Given the description of an element on the screen output the (x, y) to click on. 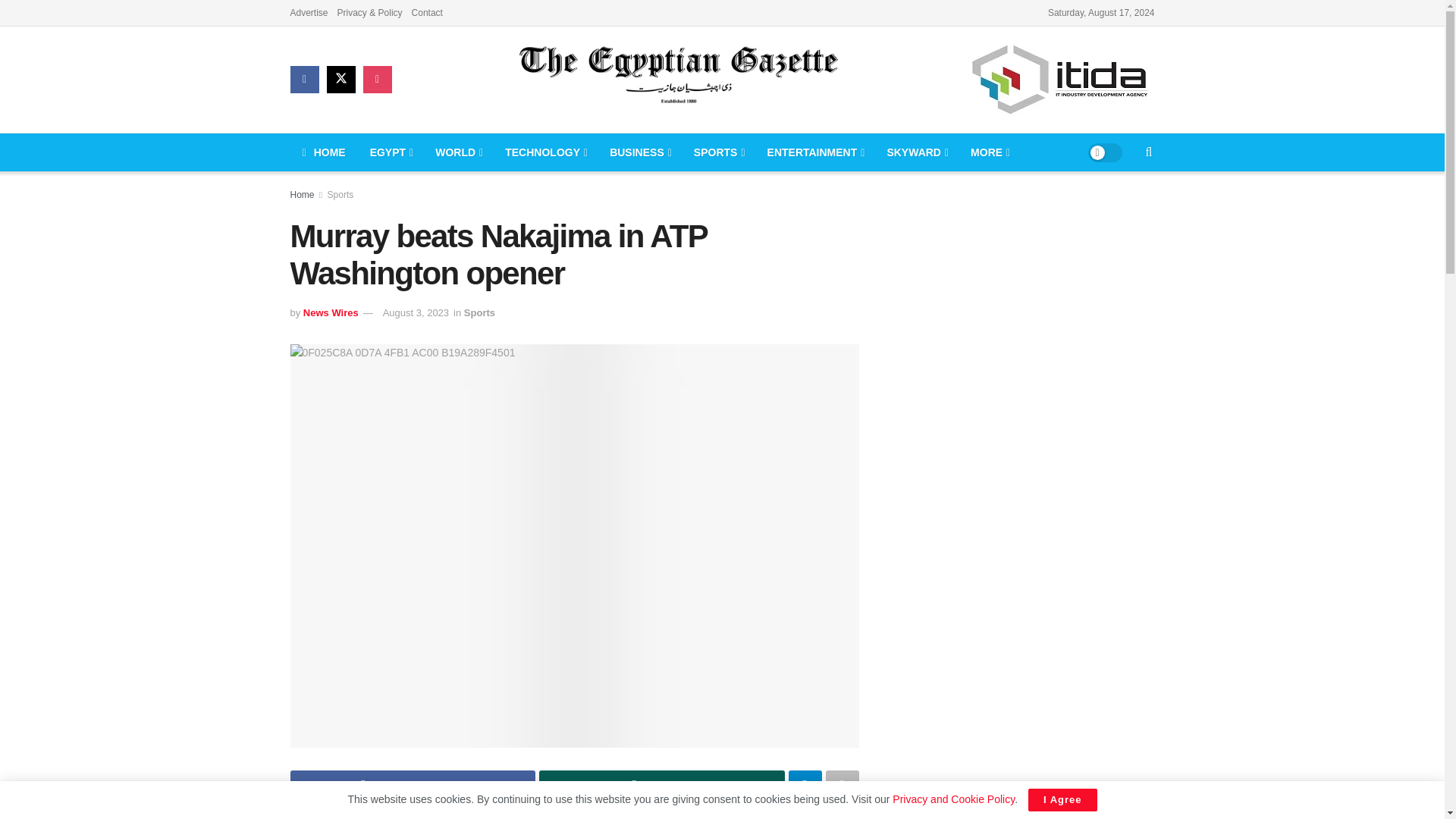
BUSINESS (638, 152)
ENTERTAINMENT (815, 152)
WORLD (458, 152)
Contact (427, 12)
Advertise (308, 12)
EGYPT (390, 152)
MORE (989, 152)
SPORTS (718, 152)
HOME (322, 152)
